Given the description of an element on the screen output the (x, y) to click on. 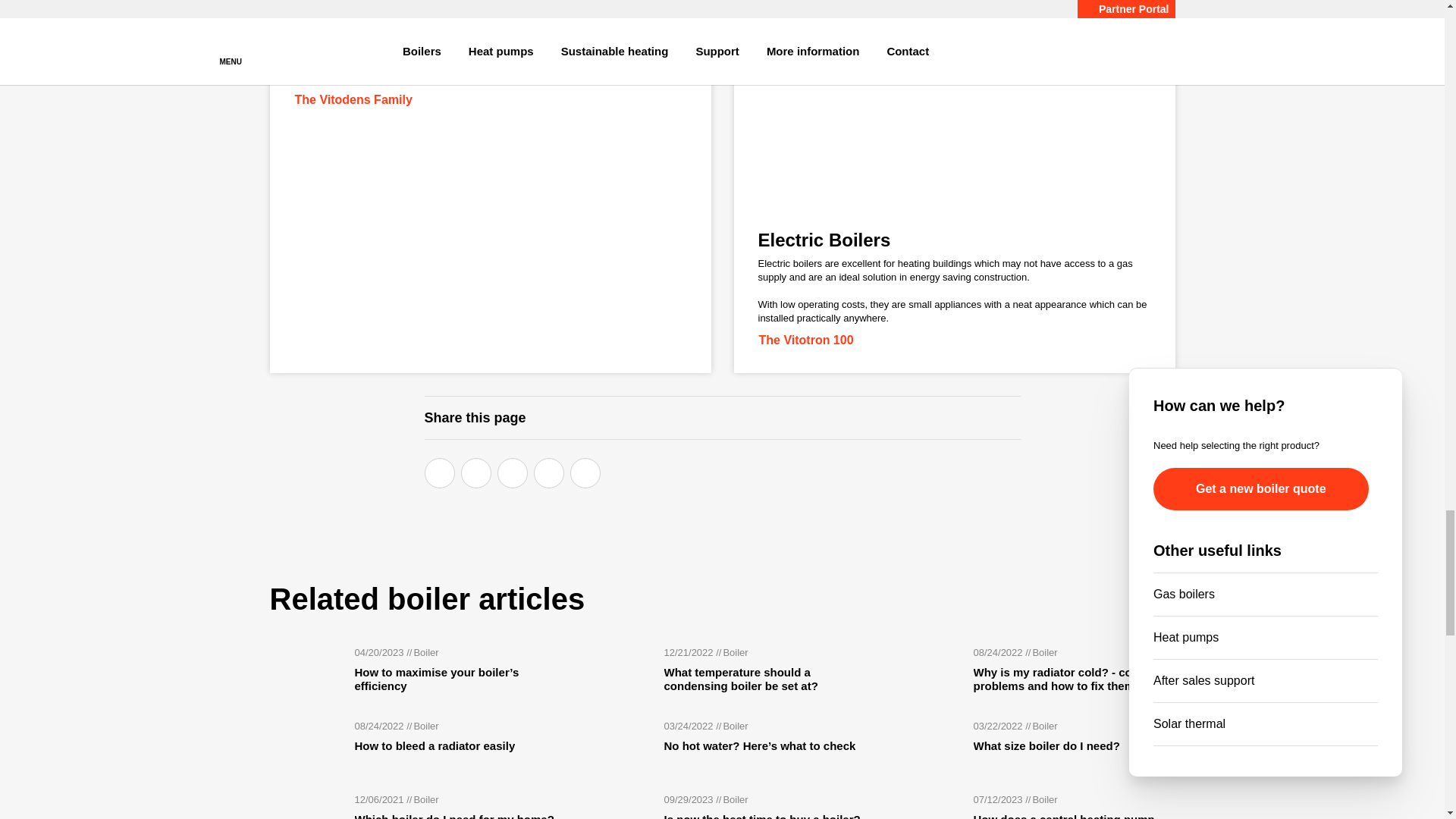
Share on LinkedIn (512, 472)
Share on Twitter (476, 472)
Share on Facebook (439, 472)
Share via Mail (584, 472)
Vitotron (953, 104)
Share on Xing (549, 472)
